Given the description of an element on the screen output the (x, y) to click on. 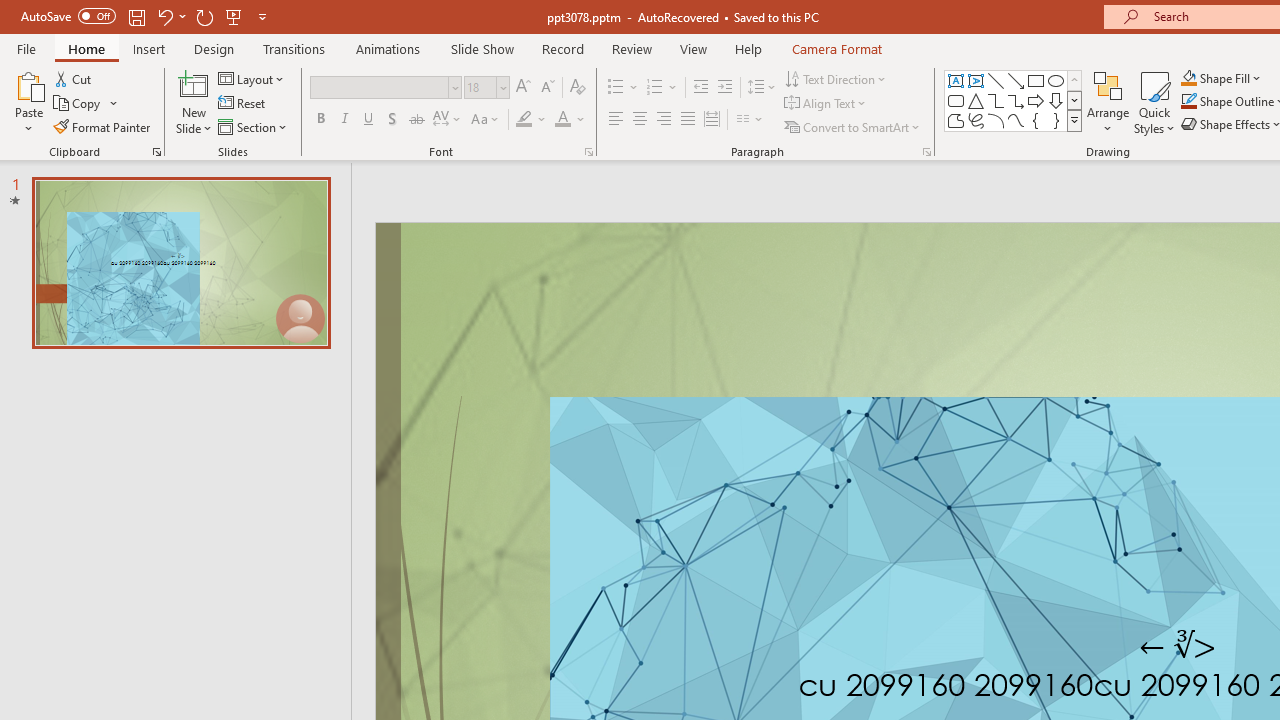
Rectangle: Rounded Corners (955, 100)
New Slide (193, 84)
New Slide (193, 102)
Copy (85, 103)
Justify (687, 119)
Transitions (294, 48)
AutomationID: ShapesInsertGallery (1014, 100)
Text Highlight Color Yellow (524, 119)
Right Brace (1055, 120)
Clear Formatting (577, 87)
Curve (1016, 120)
Paste (28, 84)
Quick Styles (1154, 102)
Distributed (712, 119)
